Given the description of an element on the screen output the (x, y) to click on. 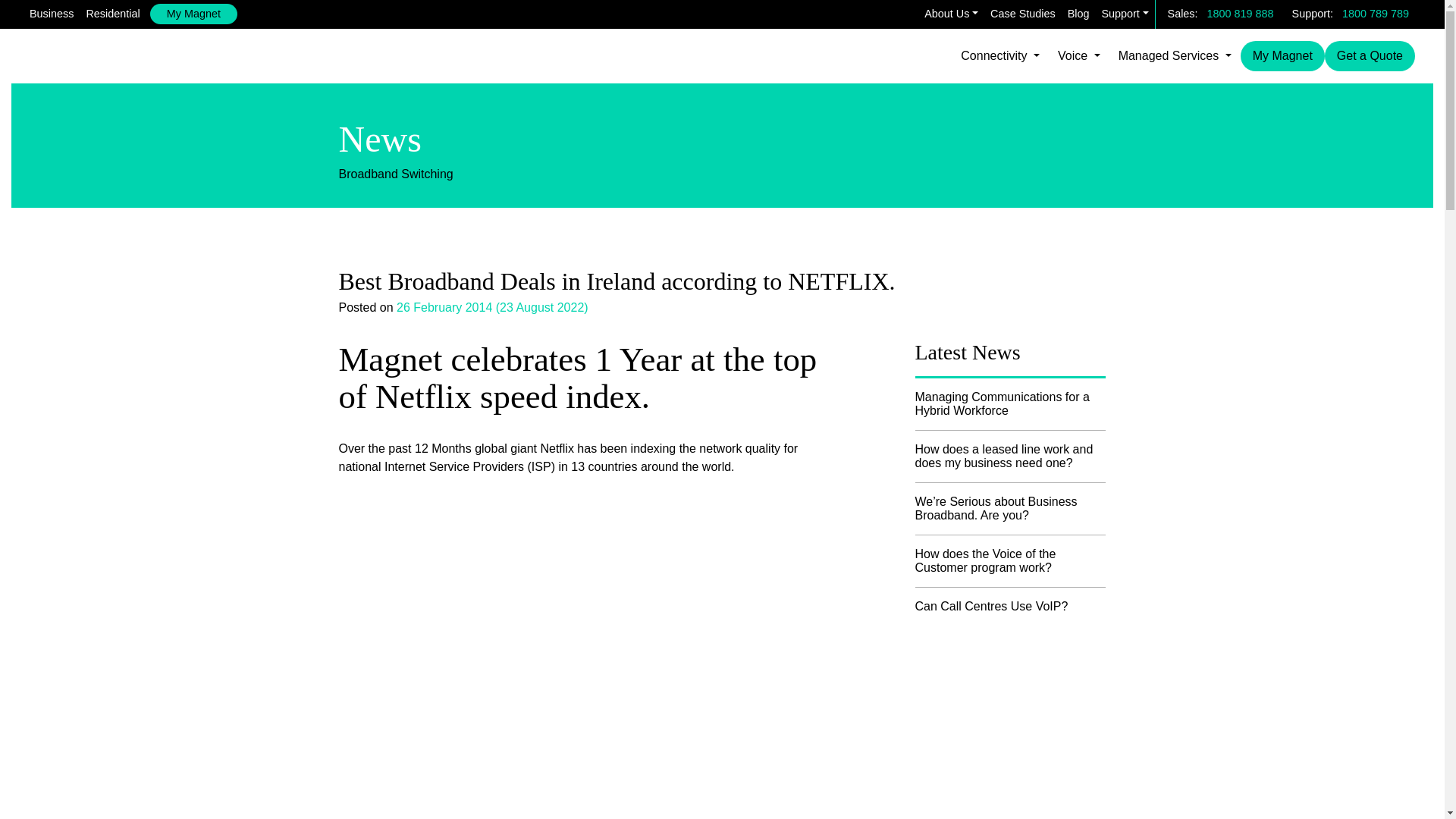
Business (51, 14)
My Magnet (192, 14)
Voice (1078, 55)
About Us (951, 14)
Support (1124, 14)
Support (1124, 14)
Case Studies (1022, 14)
Blog (1078, 14)
1800 789 789 (1375, 14)
Residential (112, 14)
Residential (112, 14)
Support: (1312, 14)
1800 819 888 (1240, 14)
Sales: (1182, 14)
About Us (951, 14)
